Given the description of an element on the screen output the (x, y) to click on. 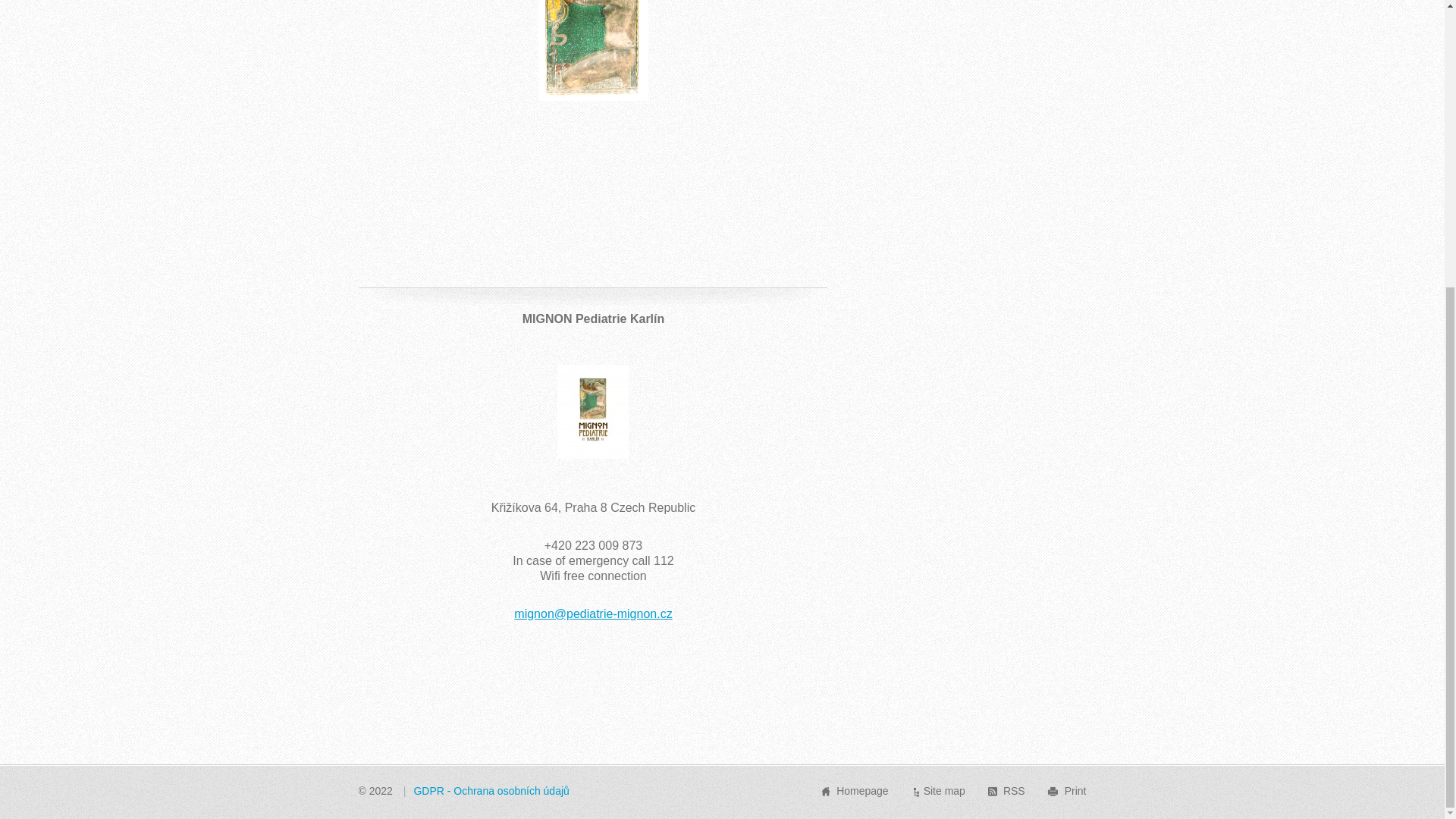
Print (1075, 790)
Go to site map. (944, 790)
RSS Feeds (1014, 790)
RSS (1014, 790)
Site map (944, 790)
Print page (1075, 790)
Go to Homepage. (861, 790)
Homepage (861, 790)
